Given the description of an element on the screen output the (x, y) to click on. 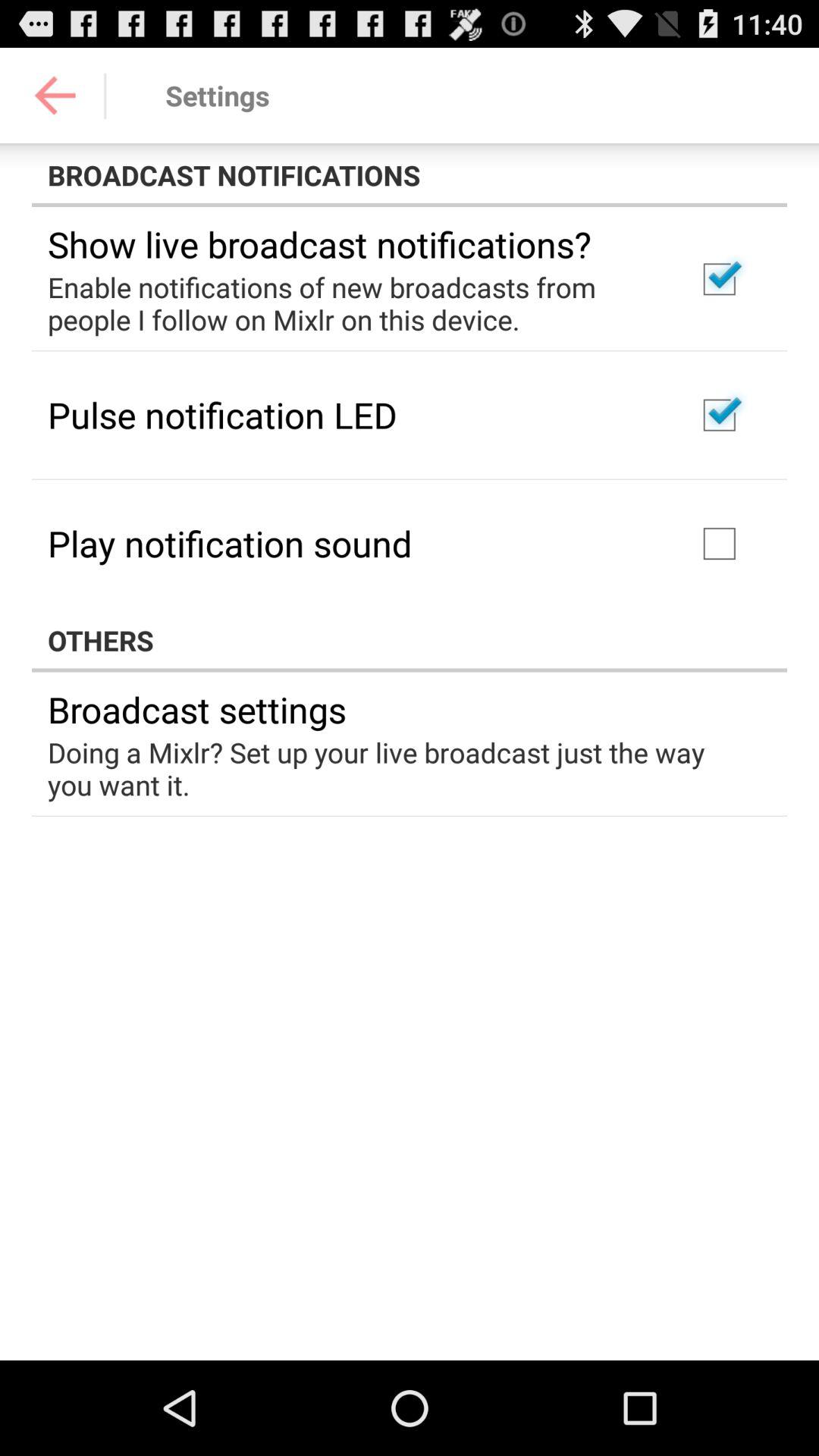
flip until enable notifications of icon (351, 303)
